Given the description of an element on the screen output the (x, y) to click on. 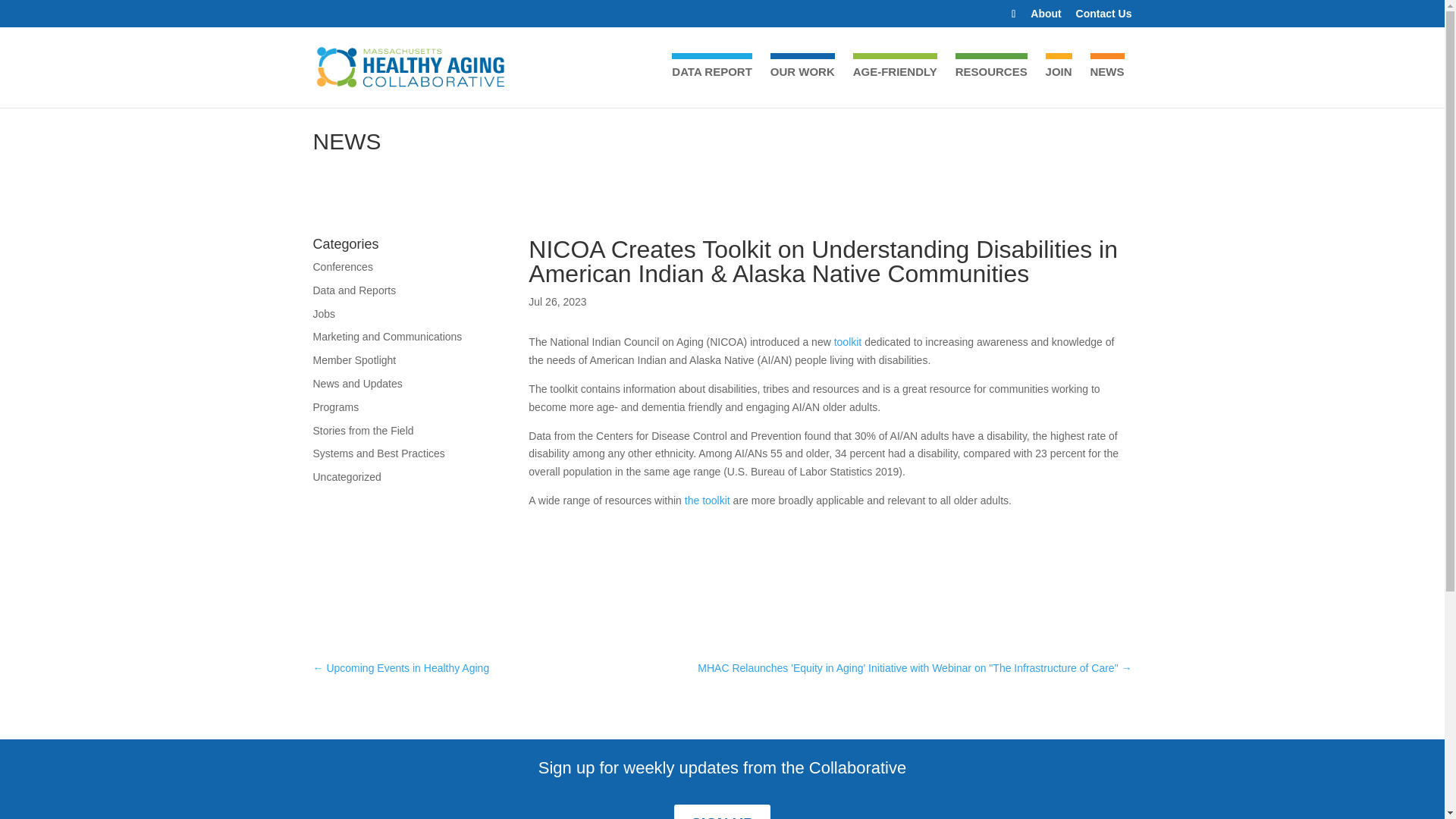
NEWS (1107, 85)
OUR WORK (802, 85)
RESOURCES (991, 85)
DATA REPORT (711, 85)
About (1045, 16)
AGE-FRIENDLY (895, 85)
Contact Us (1103, 16)
